Given the description of an element on the screen output the (x, y) to click on. 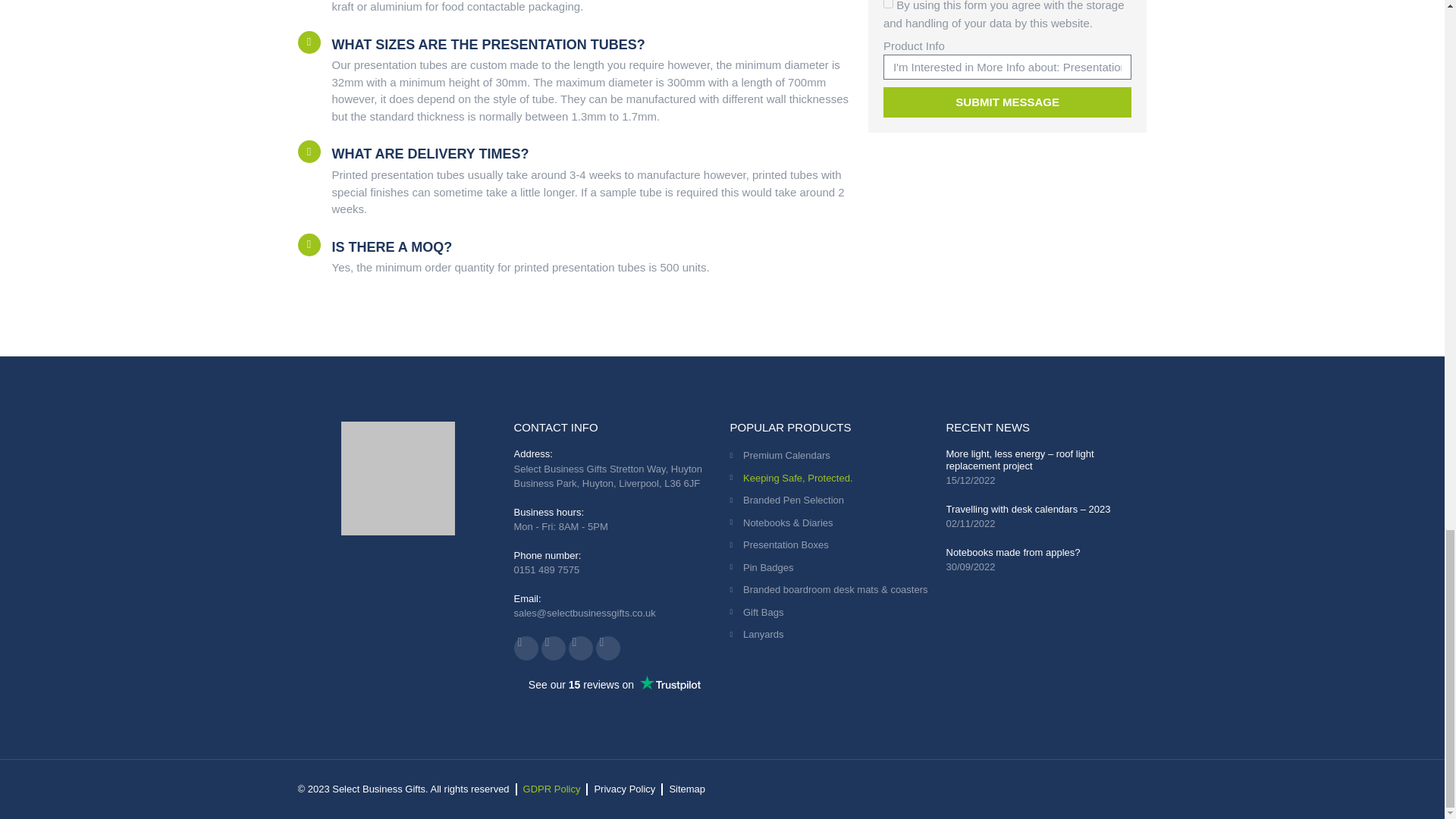
Customer reviews powered by Trustpilot (613, 684)
